Given the description of an element on the screen output the (x, y) to click on. 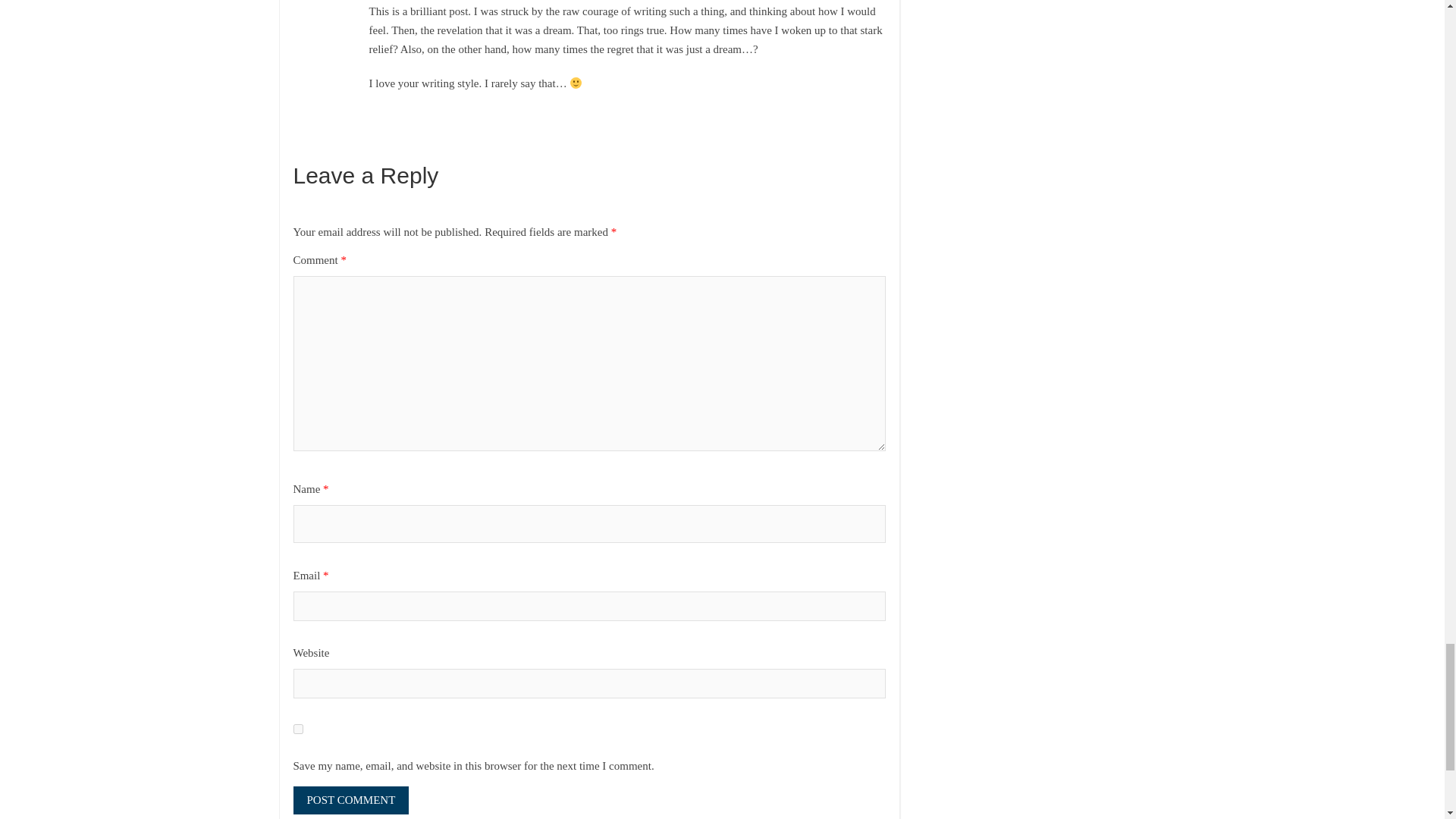
Post Comment (350, 800)
yes (297, 728)
